Given the description of an element on the screen output the (x, y) to click on. 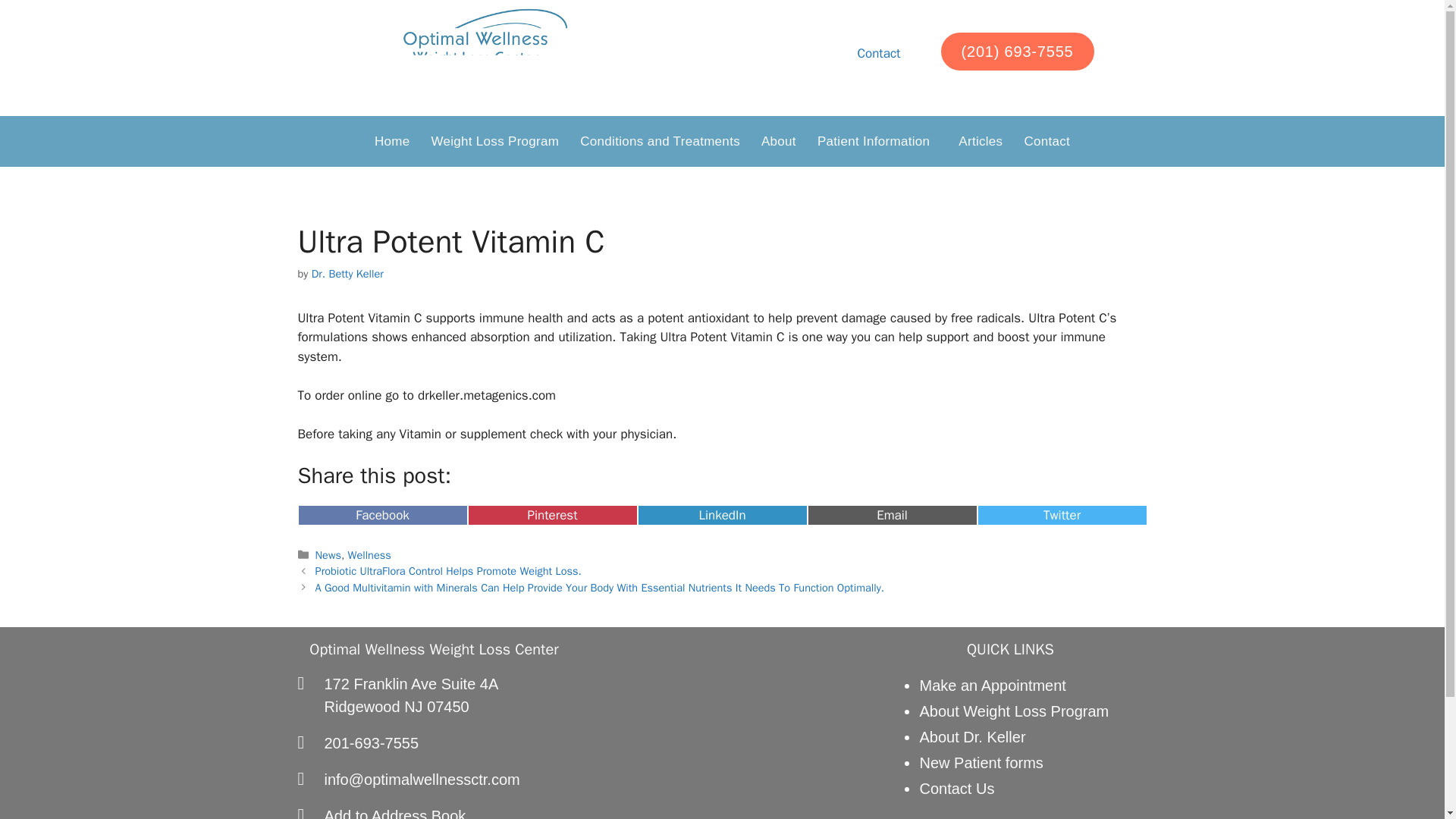
Weight Loss Program (494, 140)
Next (600, 587)
Contact (1046, 140)
About Dr. Keller (971, 736)
Facebook (382, 515)
New Patient forms (980, 762)
Dr. Betty Keller (347, 273)
201-693-7555 (433, 743)
About (778, 140)
